Given the description of an element on the screen output the (x, y) to click on. 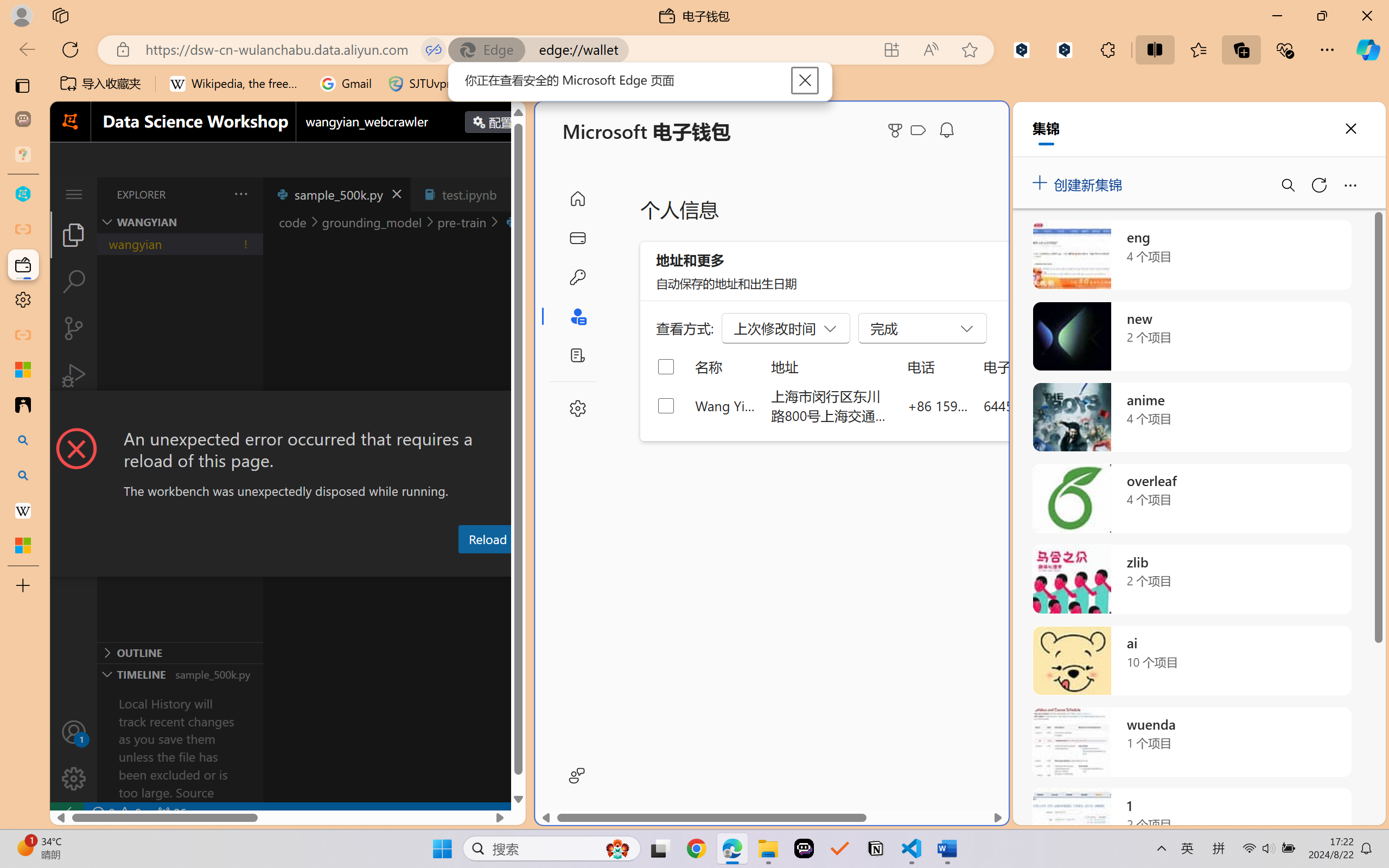
test.ipynb (468, 194)
Explorer (Ctrl+Shift+E) (73, 234)
Output (Ctrl+Shift+U) (377, 565)
sample_500k.py (336, 194)
Close Dialog (520, 410)
